Given the description of an element on the screen output the (x, y) to click on. 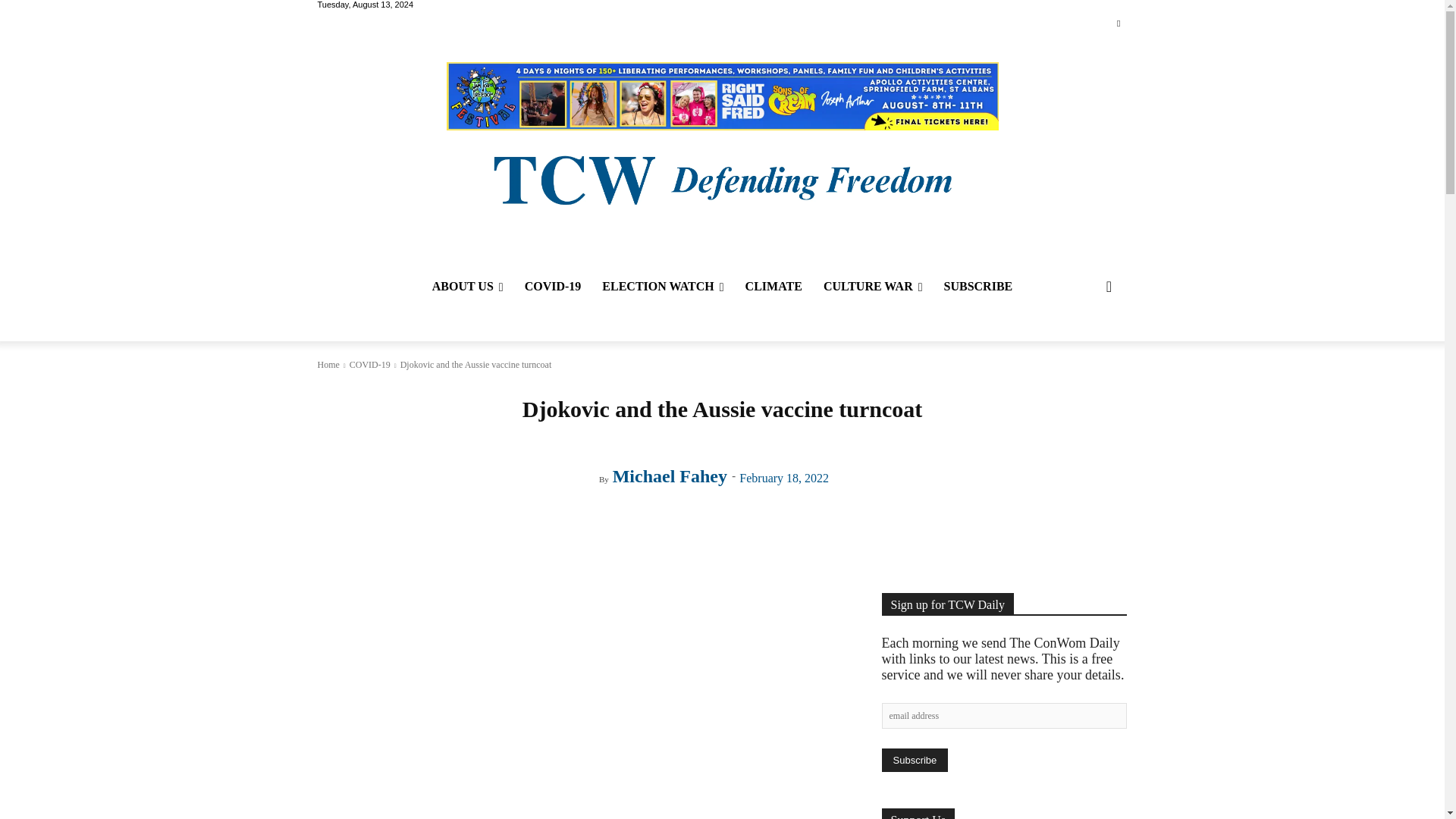
Twitter (1117, 23)
CLIMATE (773, 286)
View all posts in COVID-19 (369, 364)
Subscribe (913, 760)
The Conservative Woman (721, 178)
ELECTION WATCH (662, 286)
ABOUT US (467, 286)
COVID-19 (552, 286)
